Given the description of an element on the screen output the (x, y) to click on. 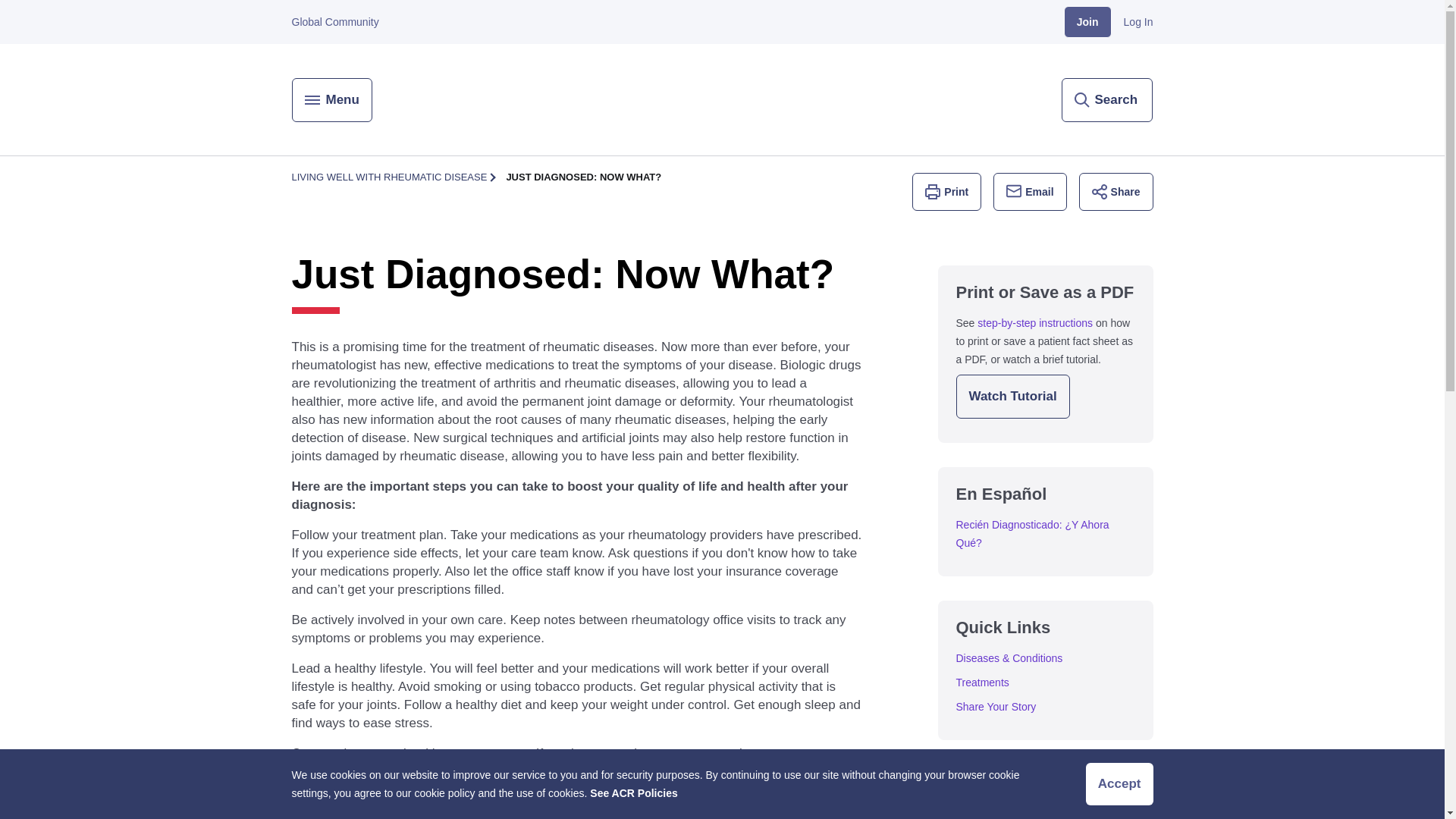
Just Diagnosed: Now What? (583, 177)
Menu (331, 98)
Join (1088, 21)
Global Community (334, 21)
Search (1107, 98)
Living Well with Rheumatic Disease (388, 177)
Log In (1138, 21)
Go Home (720, 99)
